Given the description of an element on the screen output the (x, y) to click on. 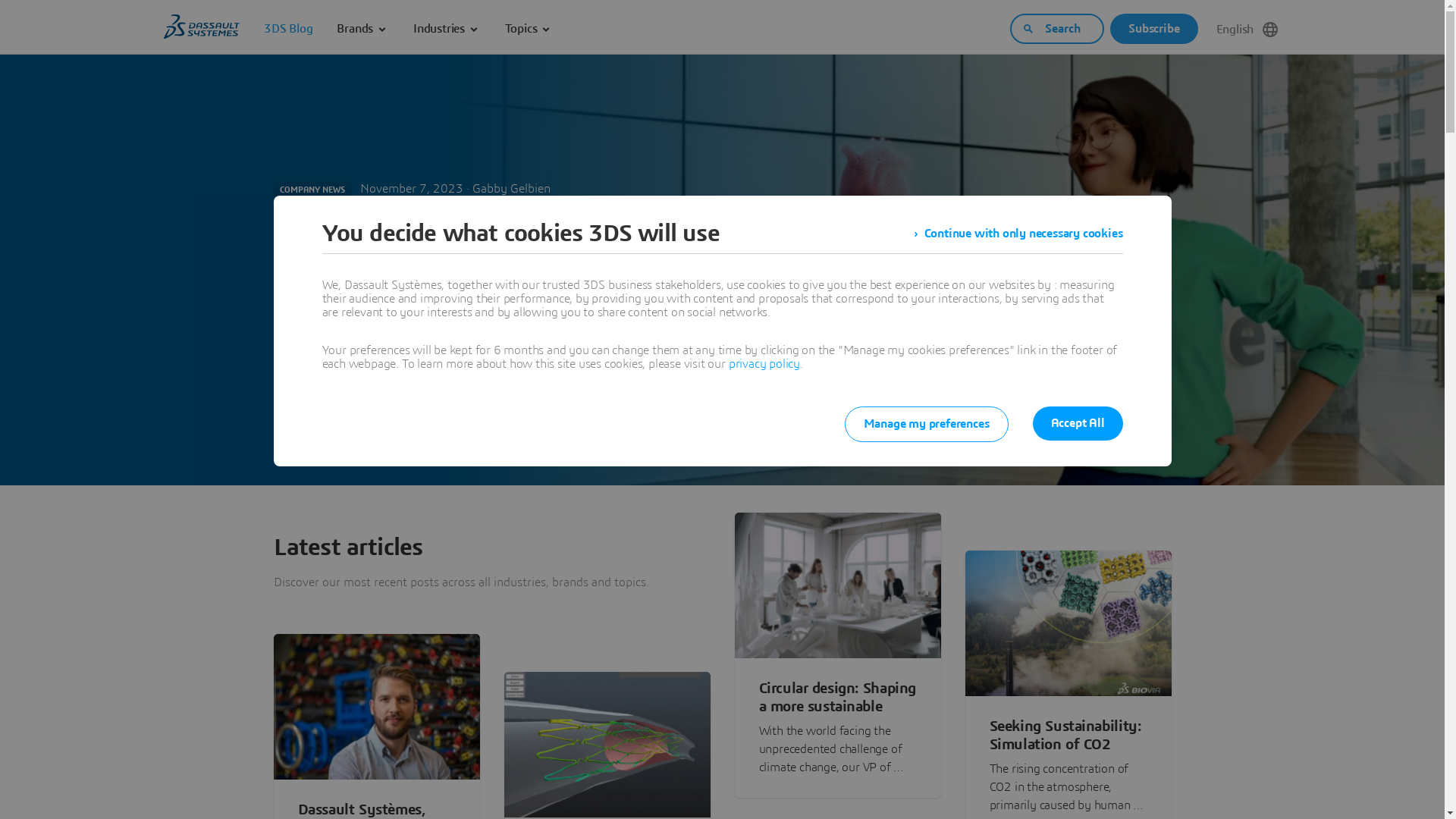
Manage my preferences Element type: text (926, 424)
Continue with only necessary cookies Element type: text (1018, 233)
Subscribe Element type: text (1153, 28)
Read article Element type: text (327, 320)
Industries Element type: text (446, 28)
Topics Element type: text (528, 28)
3DS Blog Element type: text (287, 28)
privacy policy Element type: text (764, 363)
Accept All Element type: text (1077, 423)
Circular design: Shaping a more sustainable world Element type: text (837, 697)
Brands Element type: text (362, 28)
